Given the description of an element on the screen output the (x, y) to click on. 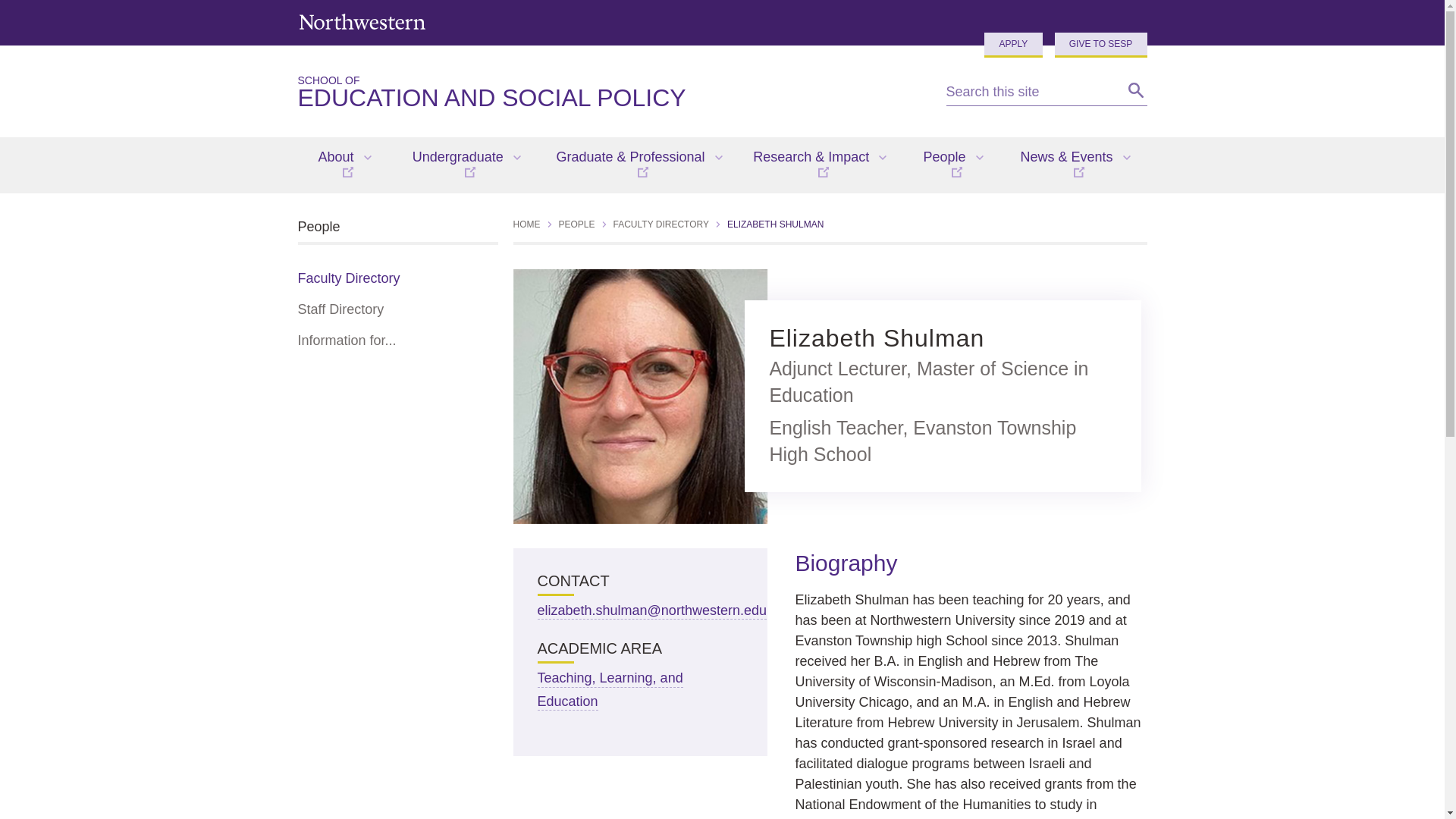
Northwestern University Home (361, 21)
School of Education and Social Policy Home (609, 93)
APPLY (609, 93)
GIVE TO SESP (1013, 44)
